Given the description of an element on the screen output the (x, y) to click on. 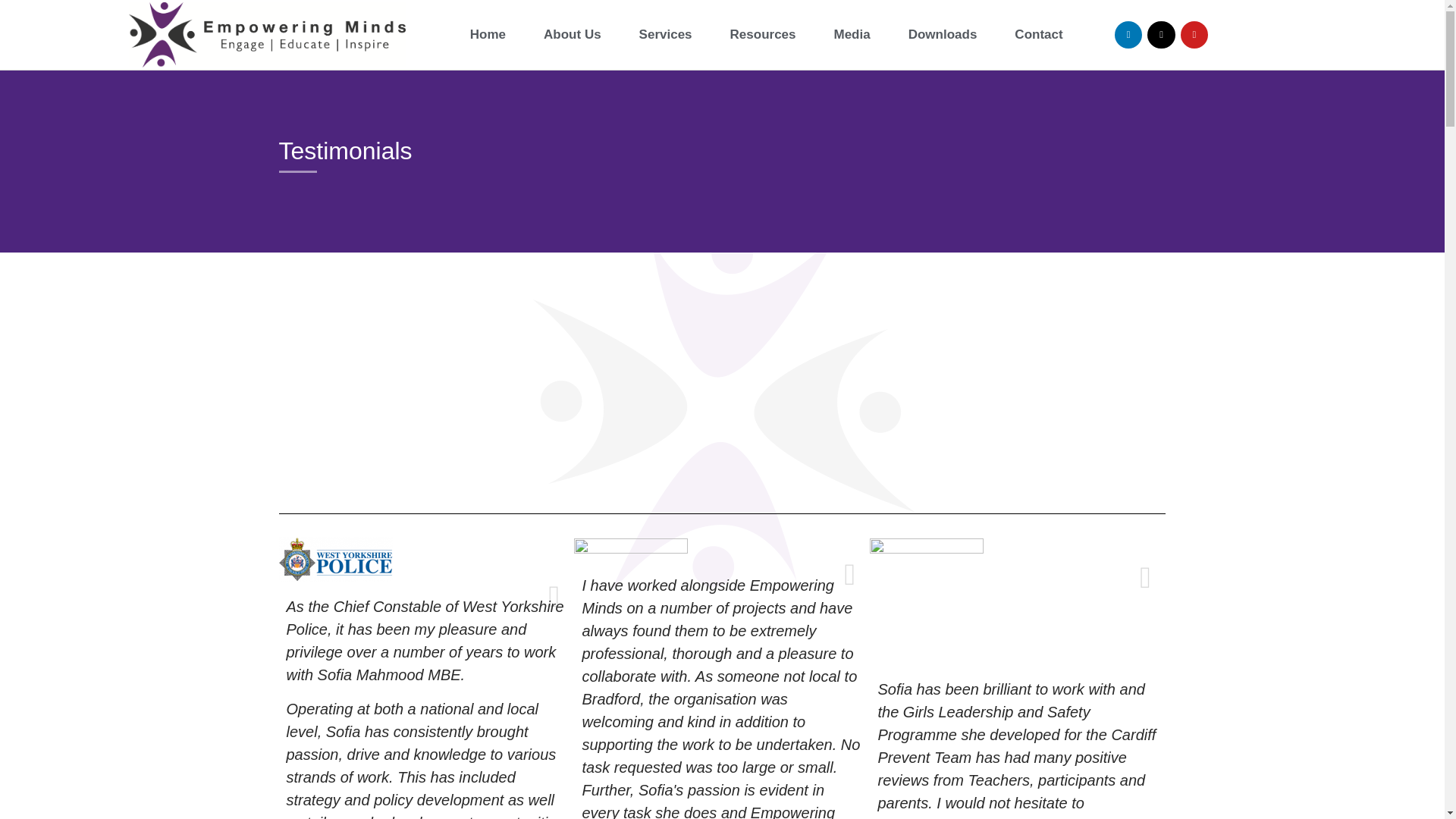
Services (665, 34)
About Us (571, 34)
Contact (1037, 34)
Media (851, 34)
Home (487, 34)
Downloads (942, 34)
Resources (762, 34)
